Given the description of an element on the screen output the (x, y) to click on. 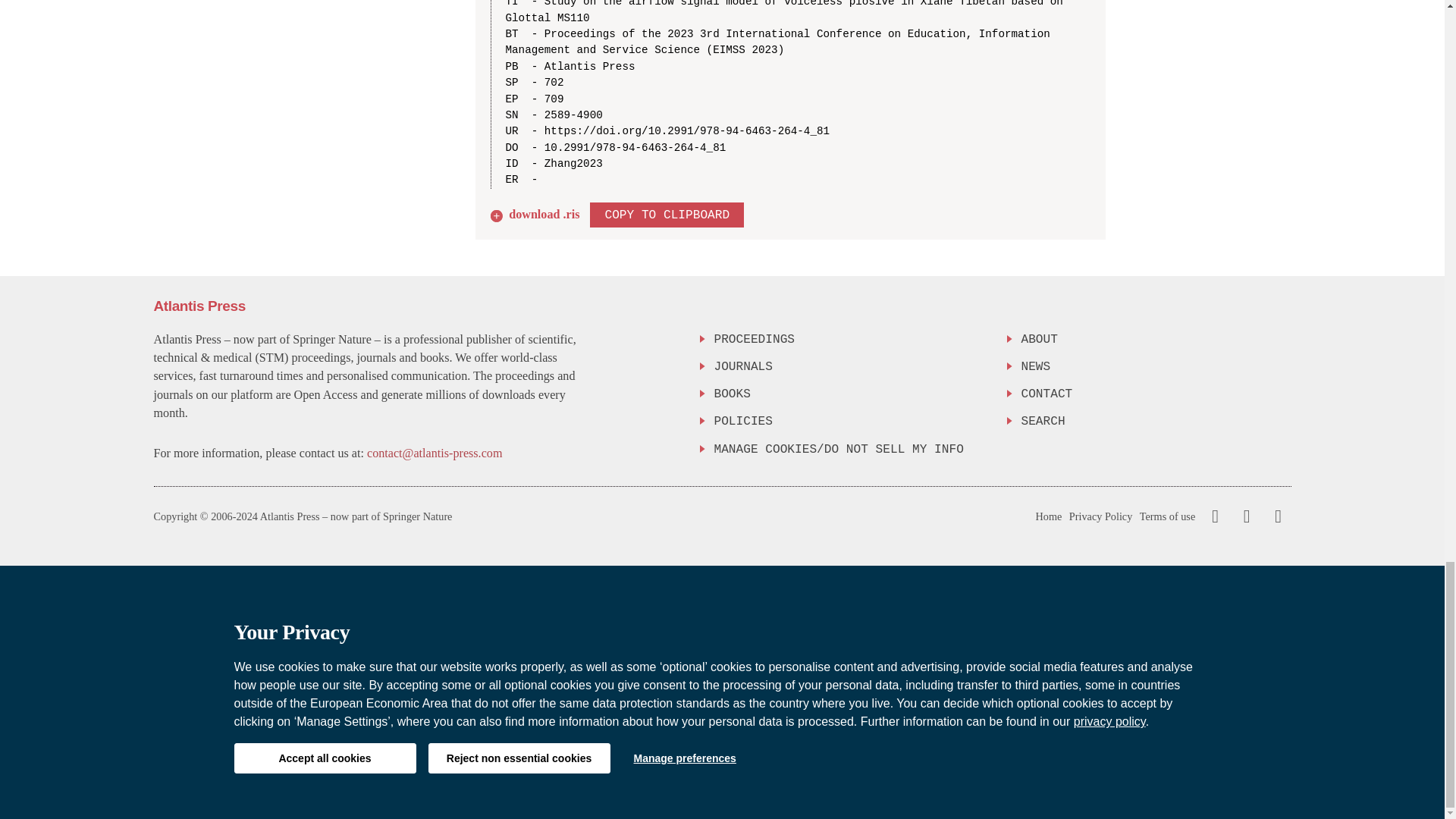
Facebook (1215, 516)
LinkedIn (1275, 516)
Twitter (1243, 516)
